Given the description of an element on the screen output the (x, y) to click on. 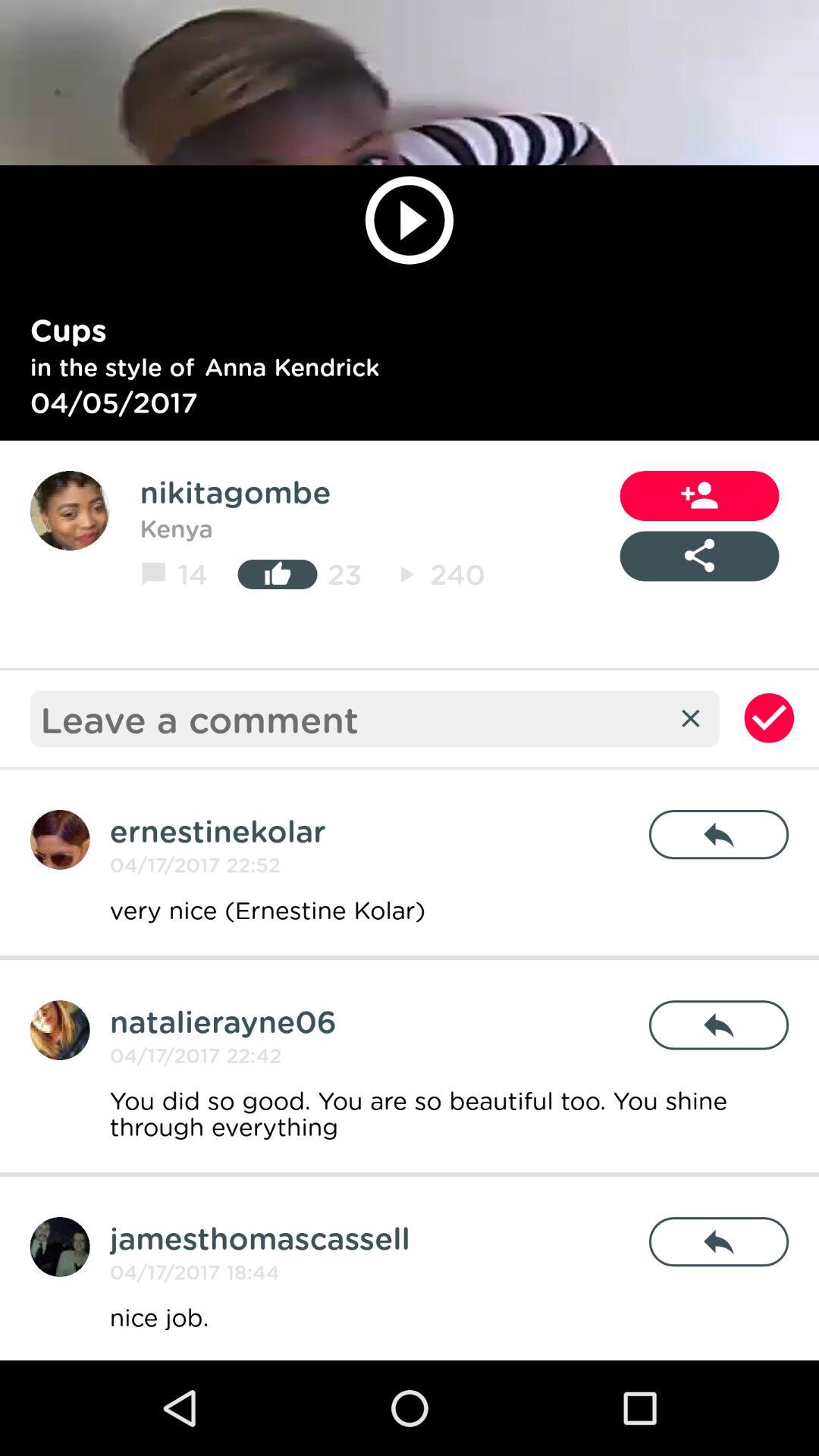
tap the icon to the right of the jamesthomascassell (718, 1241)
